Given the description of an element on the screen output the (x, y) to click on. 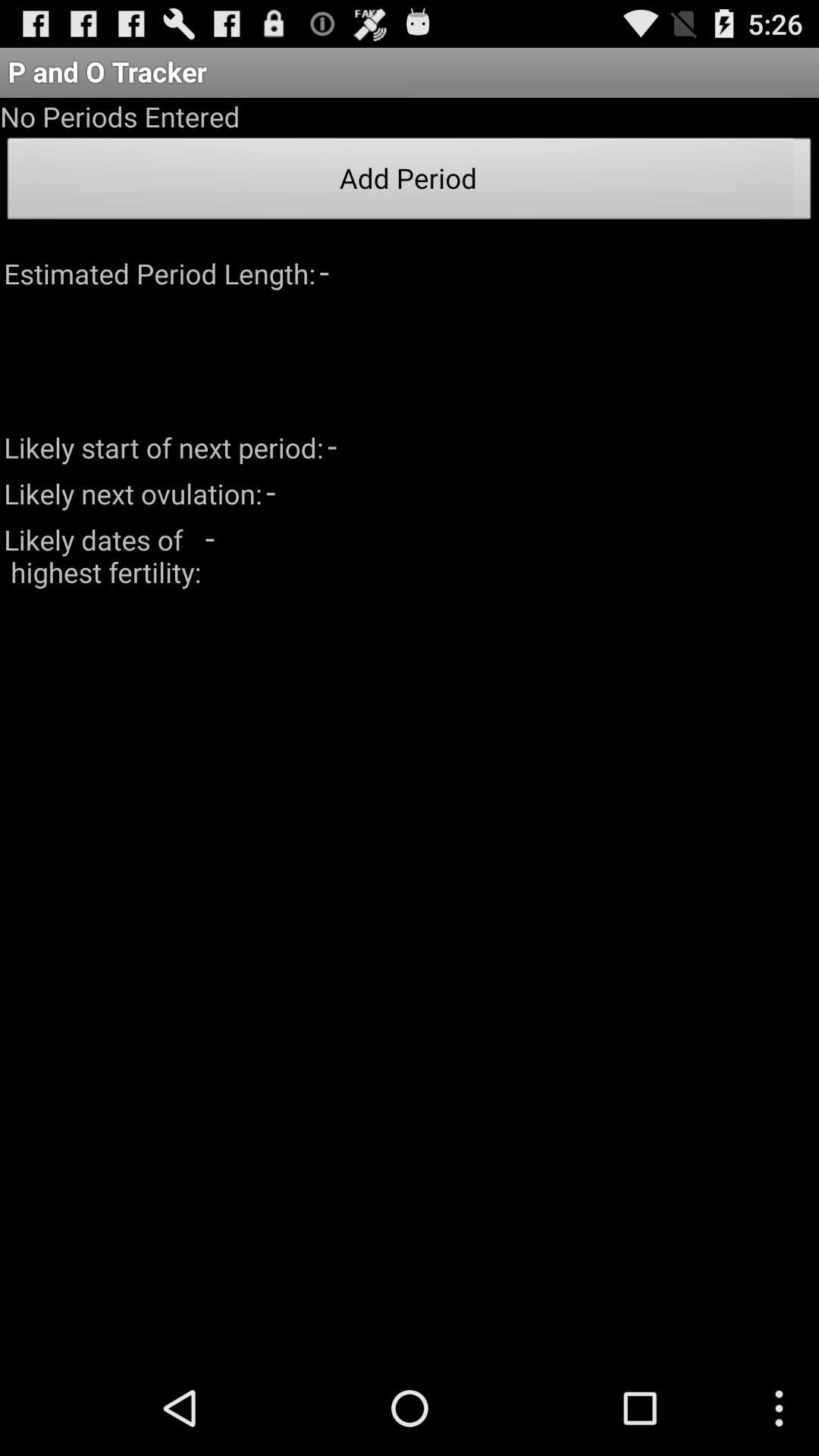
launch app below the no periods entered item (409, 182)
